Given the description of an element on the screen output the (x, y) to click on. 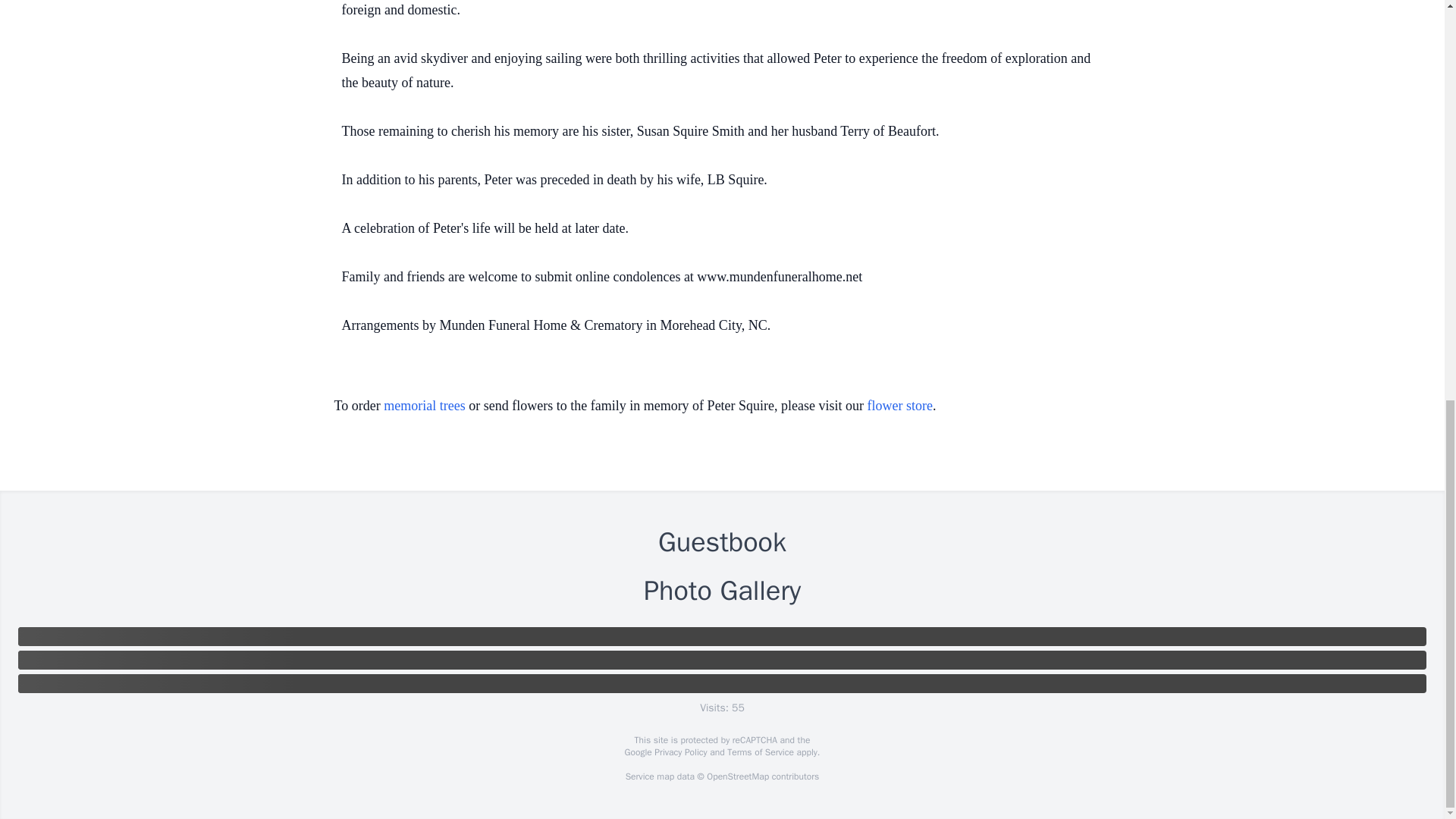
Terms of Service (759, 752)
memorial trees (424, 405)
Privacy Policy (679, 752)
OpenStreetMap (737, 776)
flower store (900, 405)
